Given the description of an element on the screen output the (x, y) to click on. 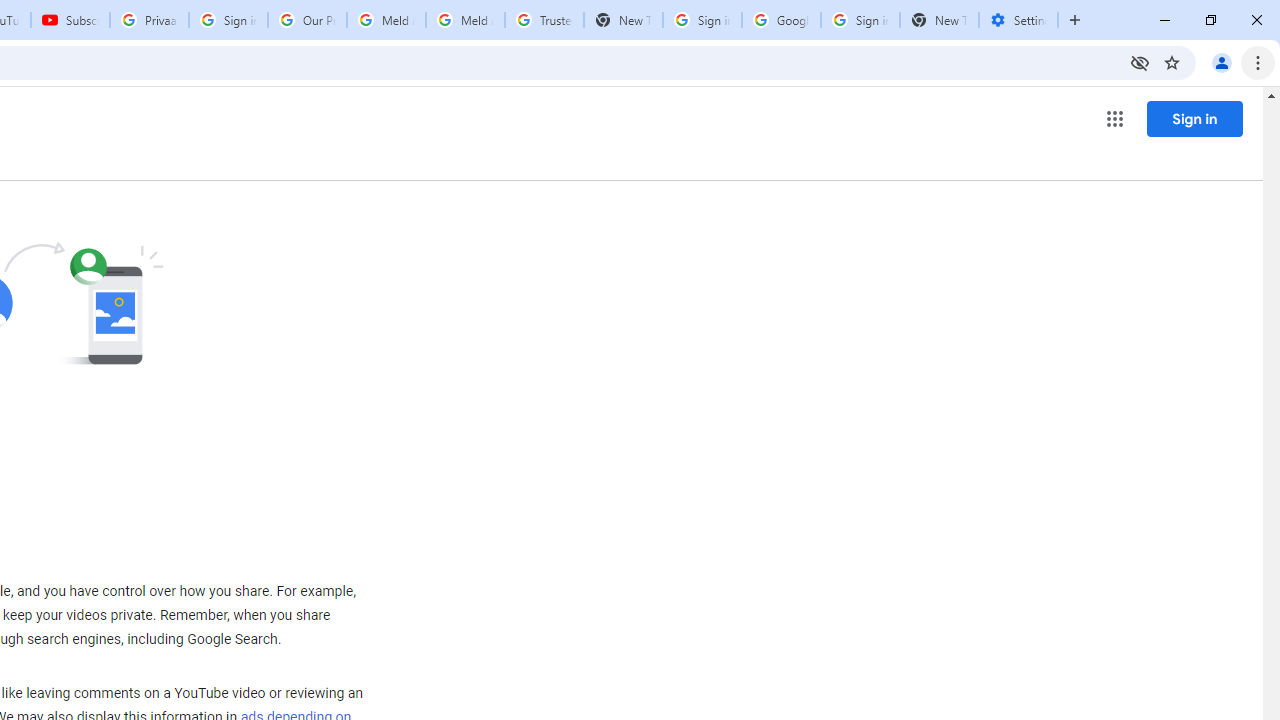
Trusted Information and Content - Google Safety Center (544, 20)
Settings - Addresses and more (1018, 20)
Sign in - Google Accounts (228, 20)
New Tab (939, 20)
Sign in - Google Accounts (702, 20)
